Given the description of an element on the screen output the (x, y) to click on. 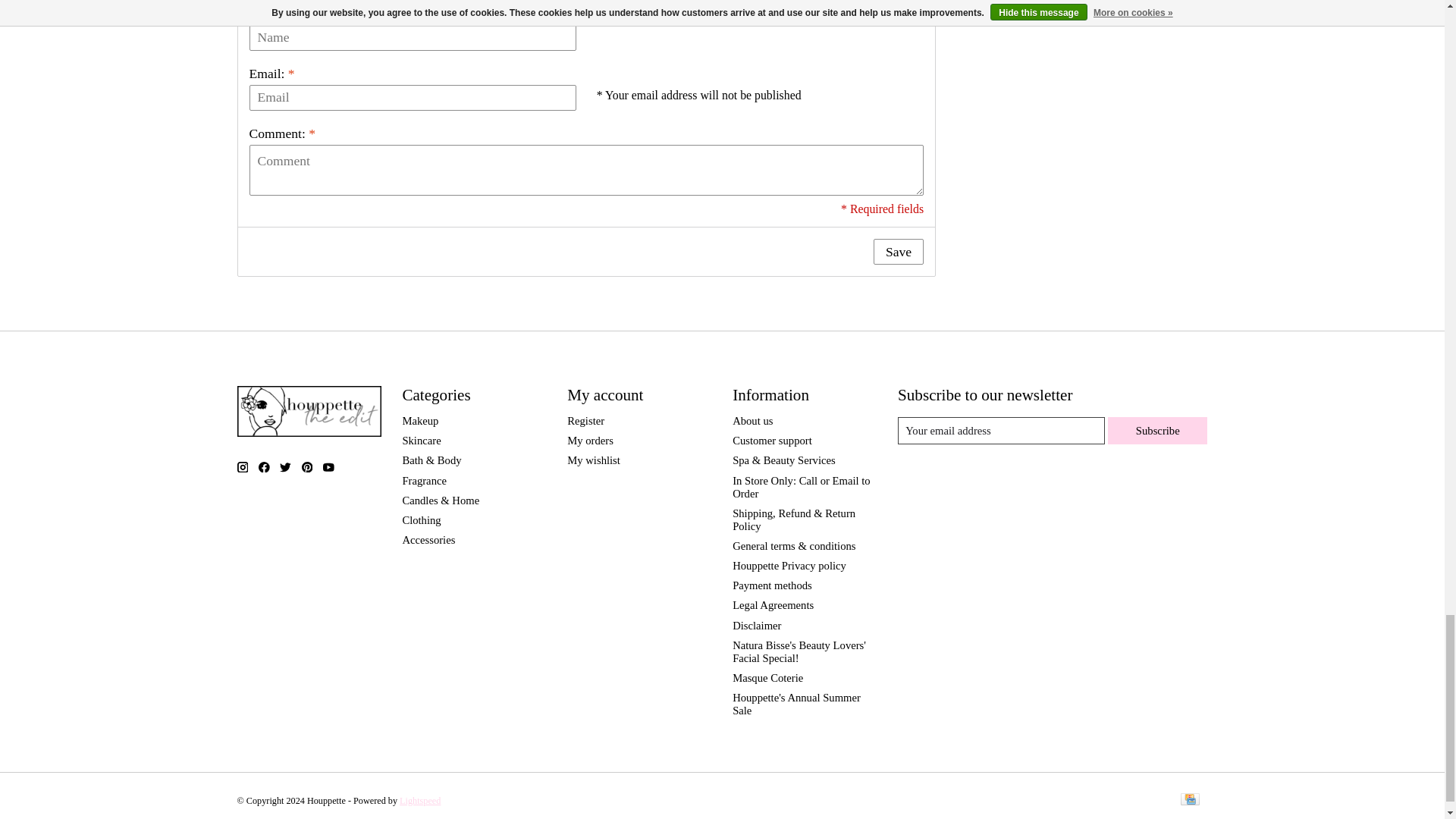
Save (898, 251)
